Given the description of an element on the screen output the (x, y) to click on. 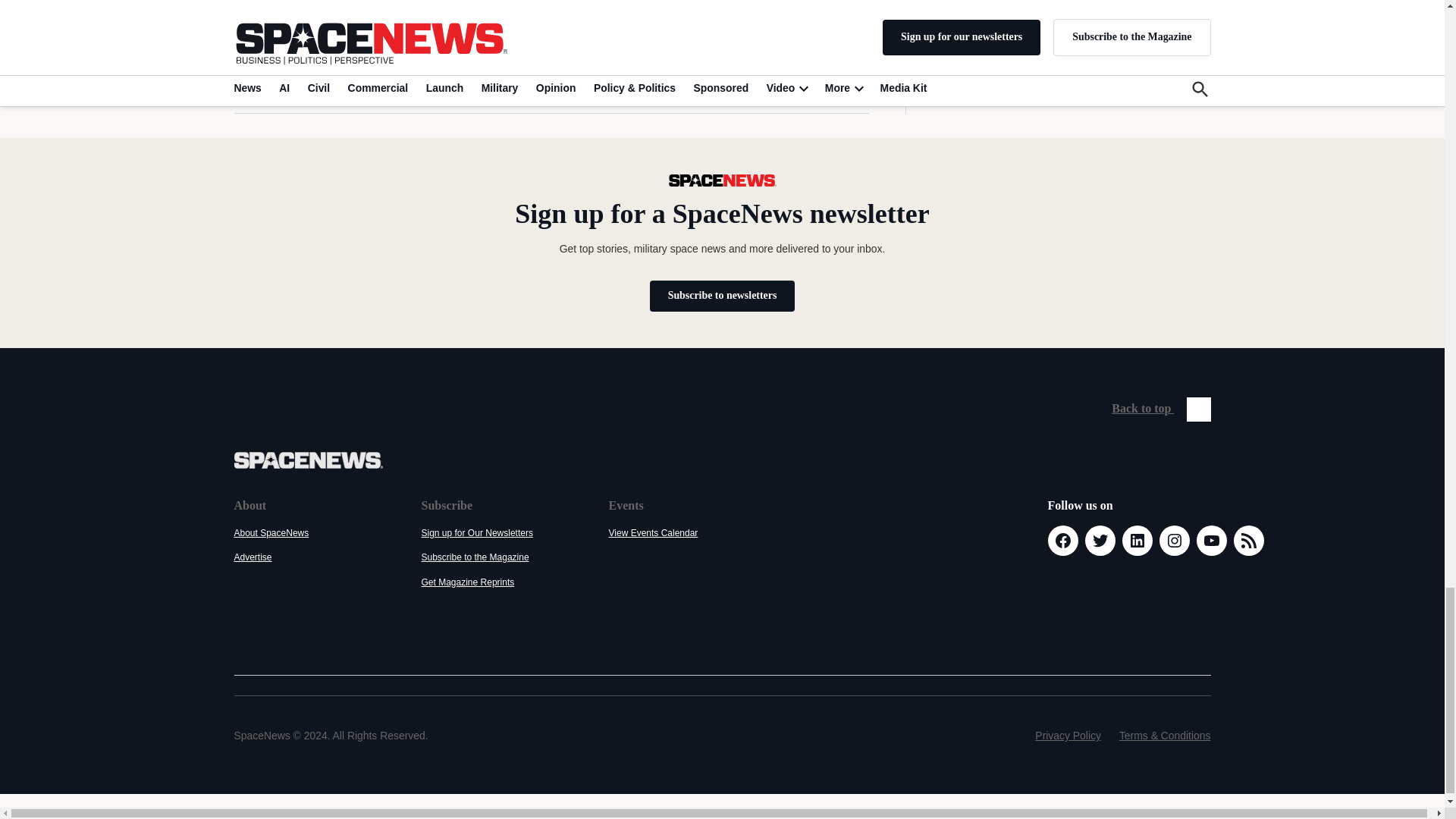
Click to email a link to a friend (386, 79)
Click to share on Reddit (352, 79)
Click to share on Facebook (286, 79)
Click to share on Clipboard (419, 80)
Click to share on X (253, 79)
Click to share on LinkedIn (319, 79)
